Given the description of an element on the screen output the (x, y) to click on. 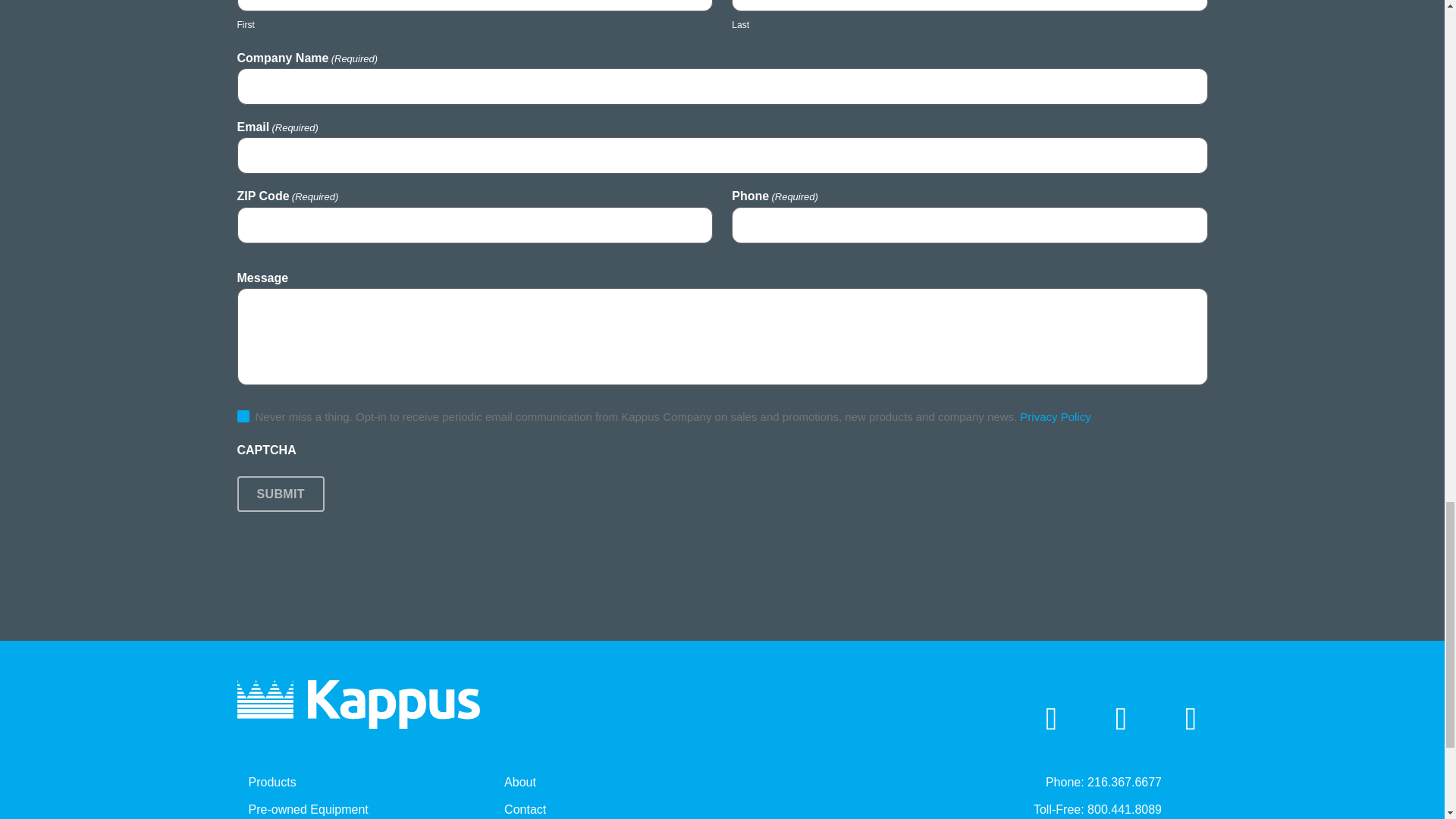
Submit (279, 493)
Follow on Facebook (1121, 719)
Kappus Logo (357, 704)
Follow on Instagram (1190, 719)
Follow on LinkedIn (1051, 719)
